Given the description of an element on the screen output the (x, y) to click on. 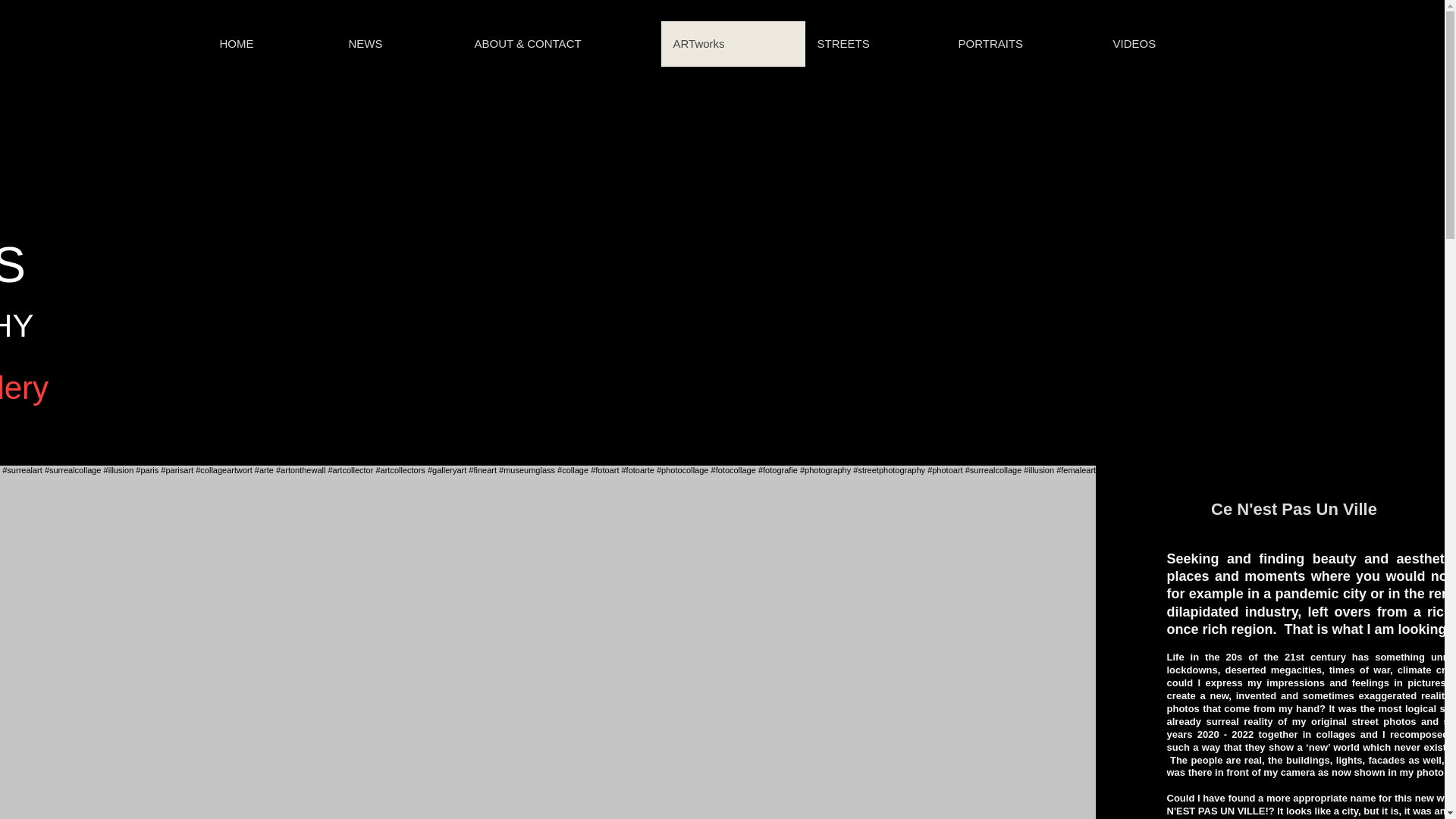
HOME (272, 43)
ARTworks (733, 43)
VIDEOS (1168, 43)
PHOTOGRAPHY (16, 325)
PETRA BECKERS (12, 236)
NEWS (399, 43)
PORTRAITS (1023, 43)
STREETS (875, 43)
